Given the description of an element on the screen output the (x, y) to click on. 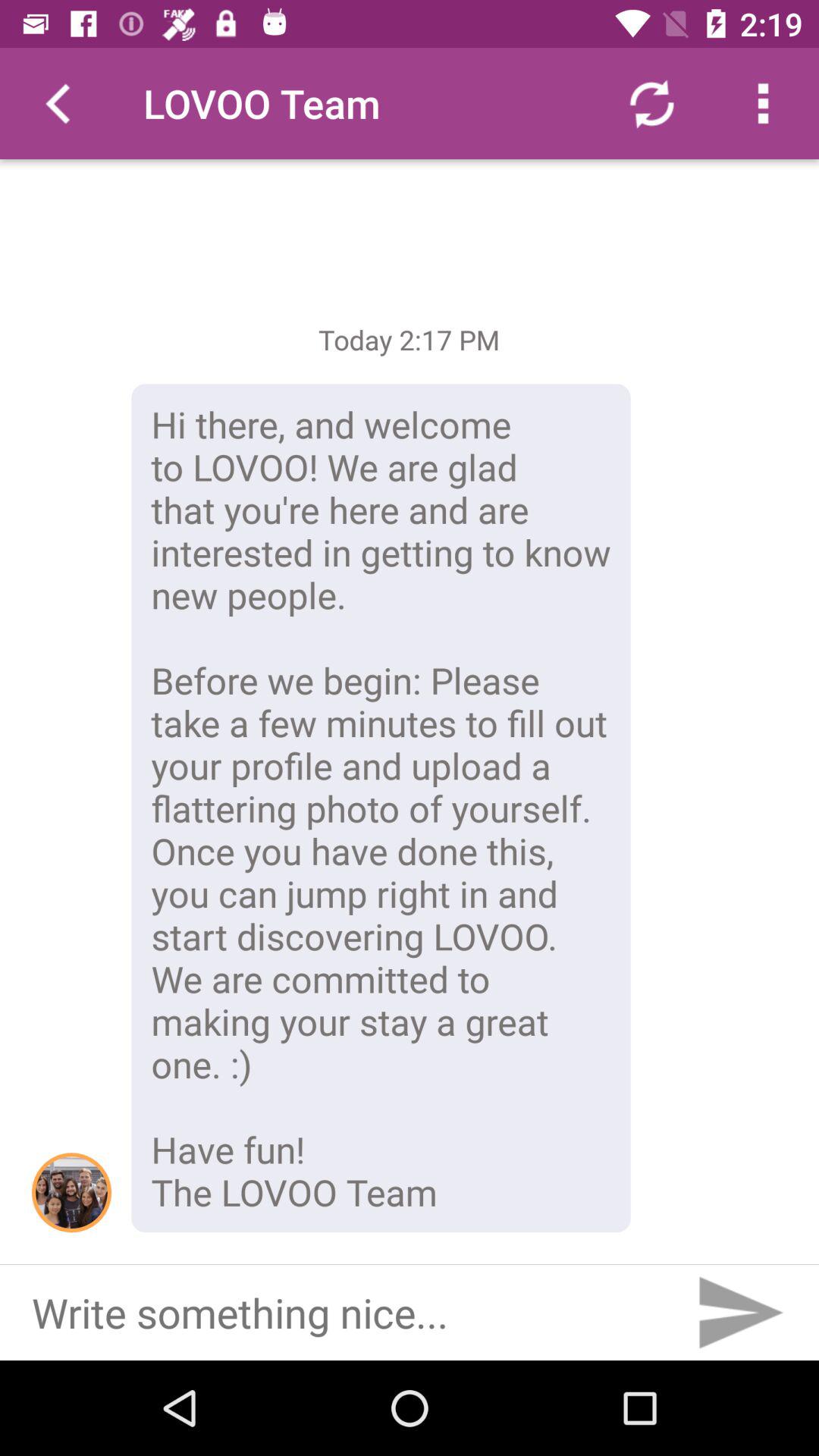
select the hi there and at the center (380, 807)
